Given the description of an element on the screen output the (x, y) to click on. 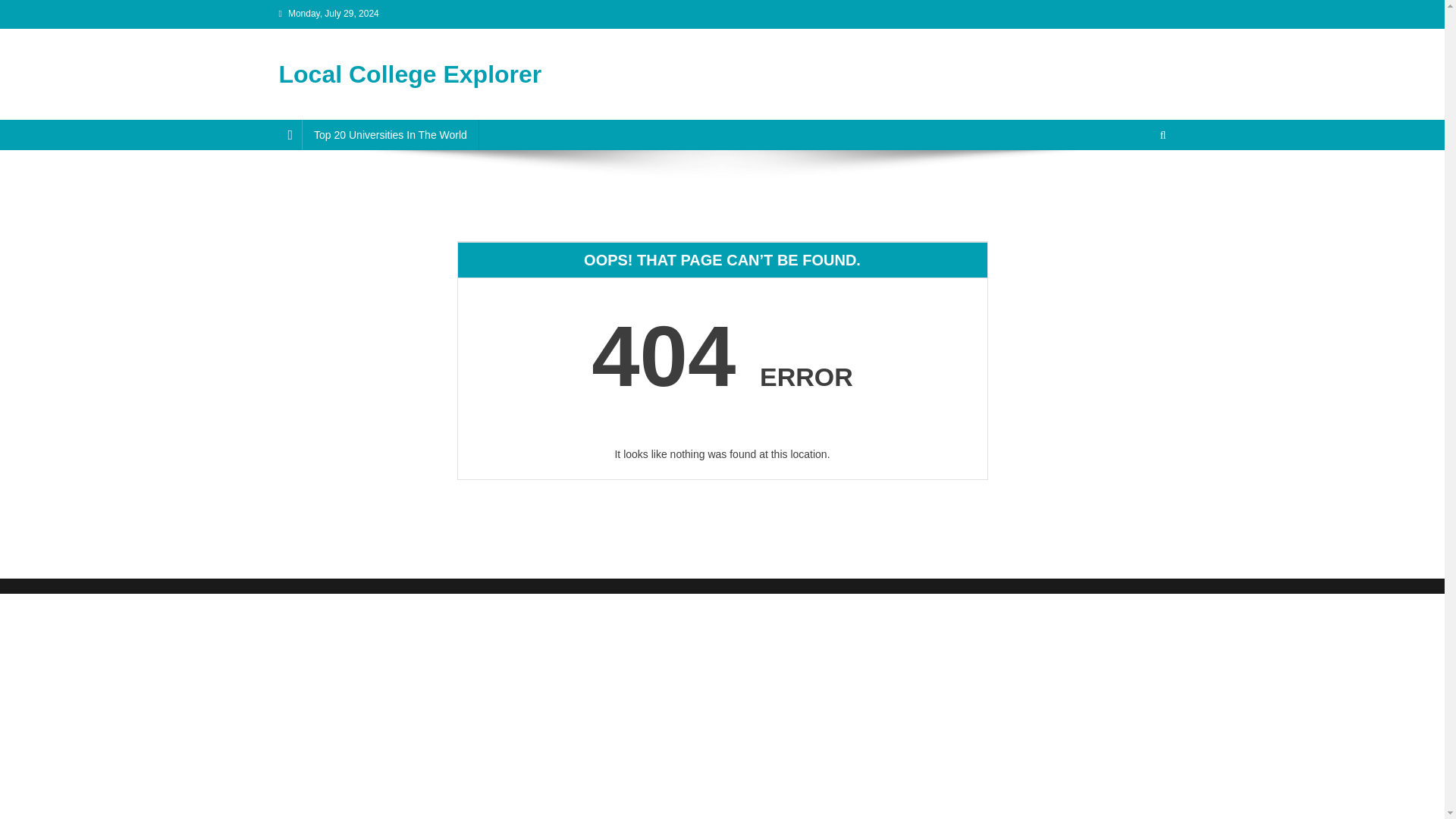
Local College Explorer (410, 73)
Search (1133, 185)
Top 20 Universities In The World (390, 134)
